Given the description of an element on the screen output the (x, y) to click on. 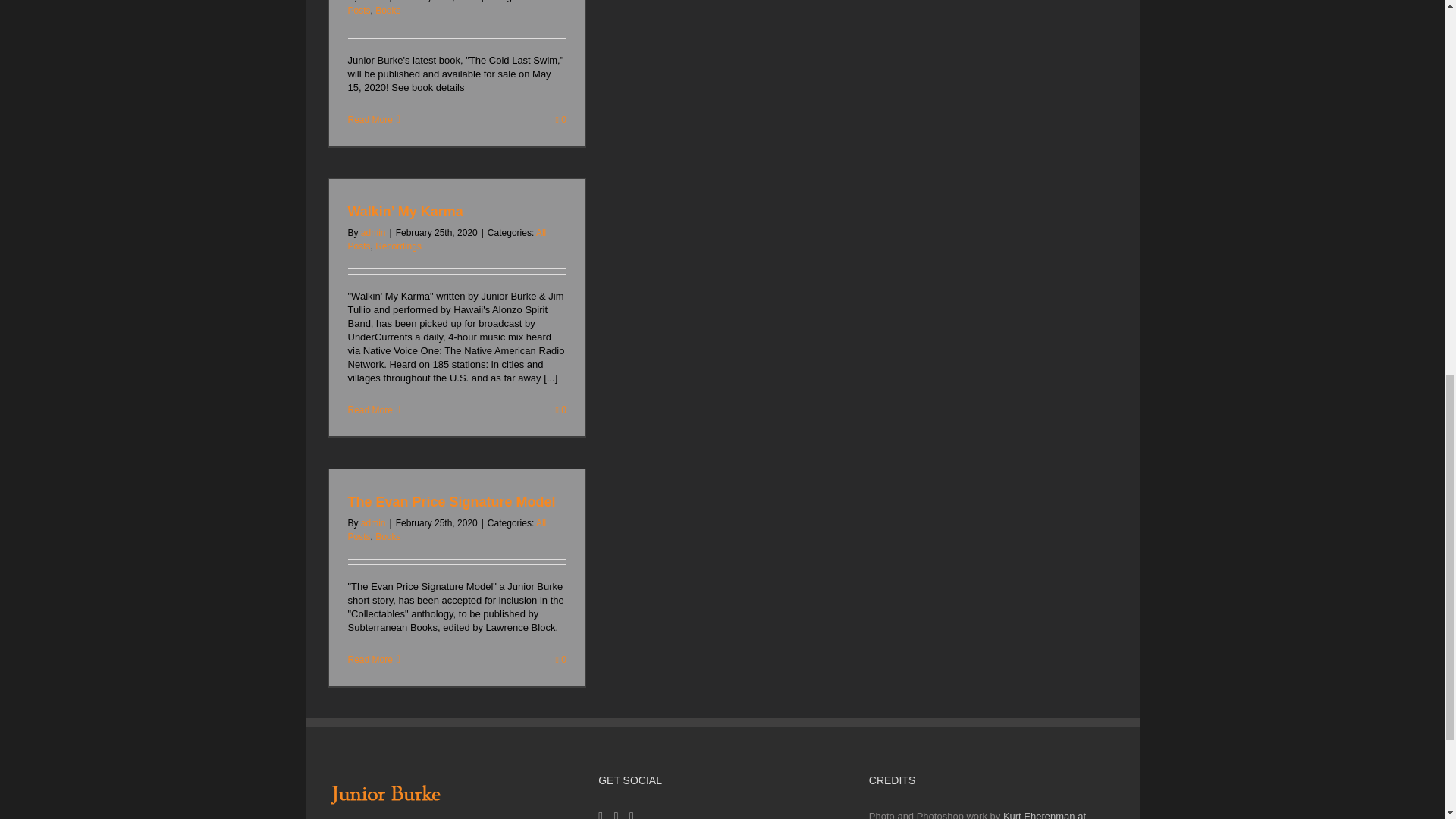
All Posts (446, 7)
Posts by admin (373, 522)
Books (387, 9)
Posts by admin (373, 1)
 0 (560, 119)
admin (373, 1)
Read More (369, 119)
Posts by admin (373, 232)
